Given the description of an element on the screen output the (x, y) to click on. 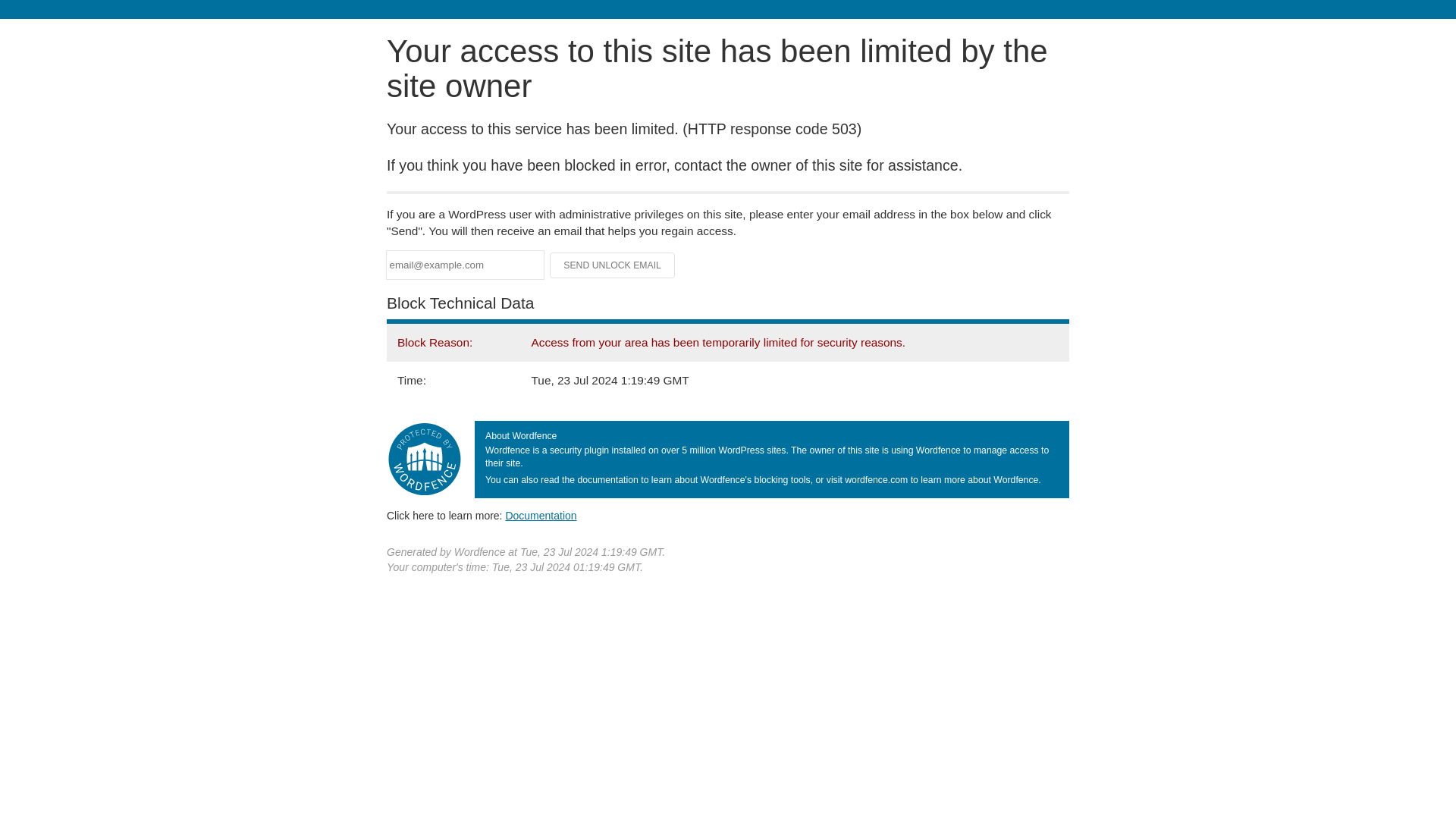
Send Unlock Email (612, 265)
Send Unlock Email (612, 265)
Documentation (540, 515)
